Given the description of an element on the screen output the (x, y) to click on. 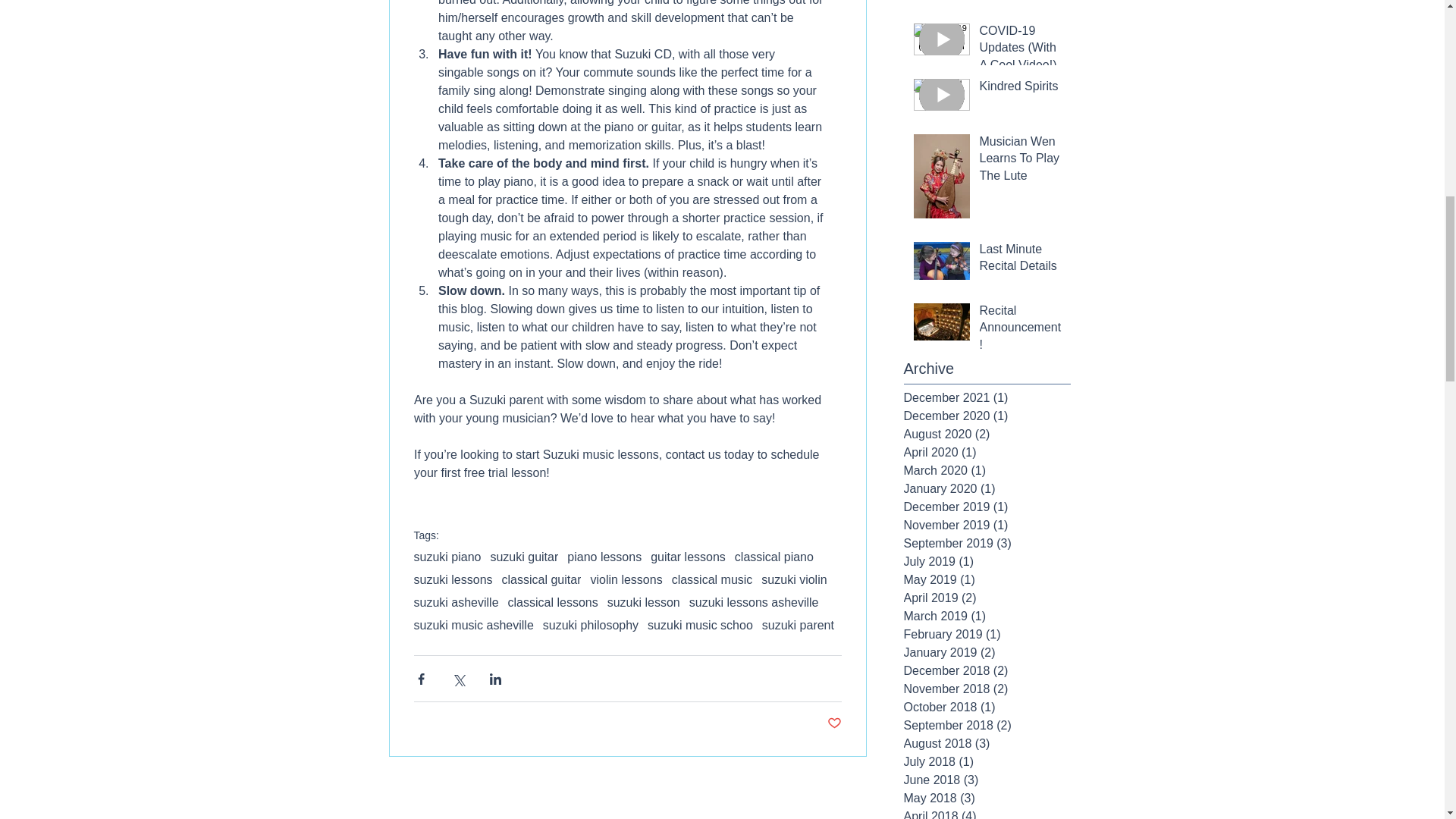
classical music (711, 580)
suzuki lessons asheville (753, 602)
suzuki guitar (523, 557)
Post not marked as liked (834, 723)
violin lessons (625, 580)
suzuki violin (794, 580)
suzuki music schoo (699, 625)
suzuki music asheville (473, 625)
suzuki philosophy (591, 625)
classical piano (774, 557)
